Given the description of an element on the screen output the (x, y) to click on. 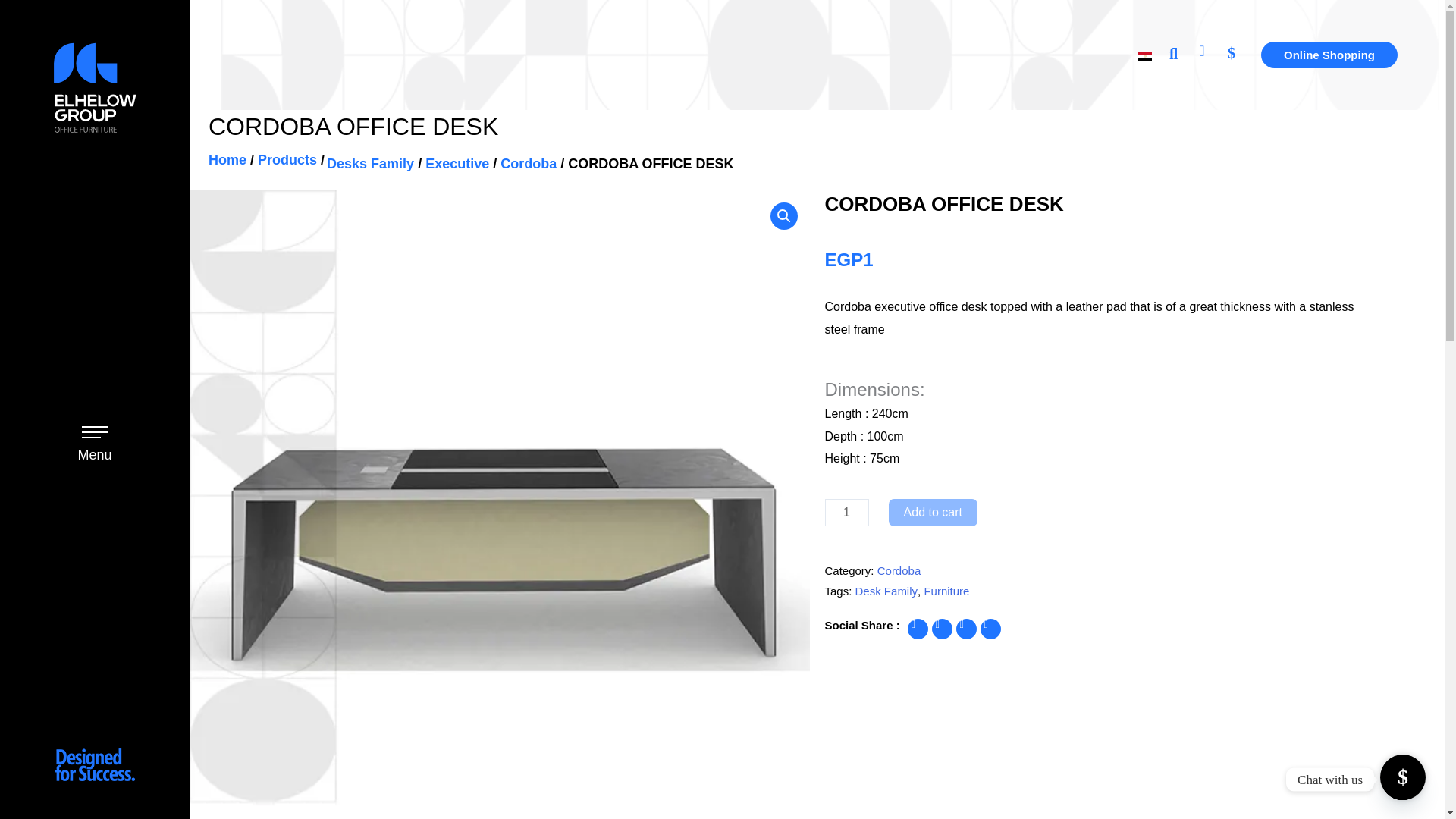
Cordoba (528, 163)
Menu (94, 454)
Cordoba (899, 570)
1 (847, 512)
Executive (457, 163)
Add to cart (932, 512)
Online Shopping (1328, 54)
Desks Family (369, 163)
